Given the description of an element on the screen output the (x, y) to click on. 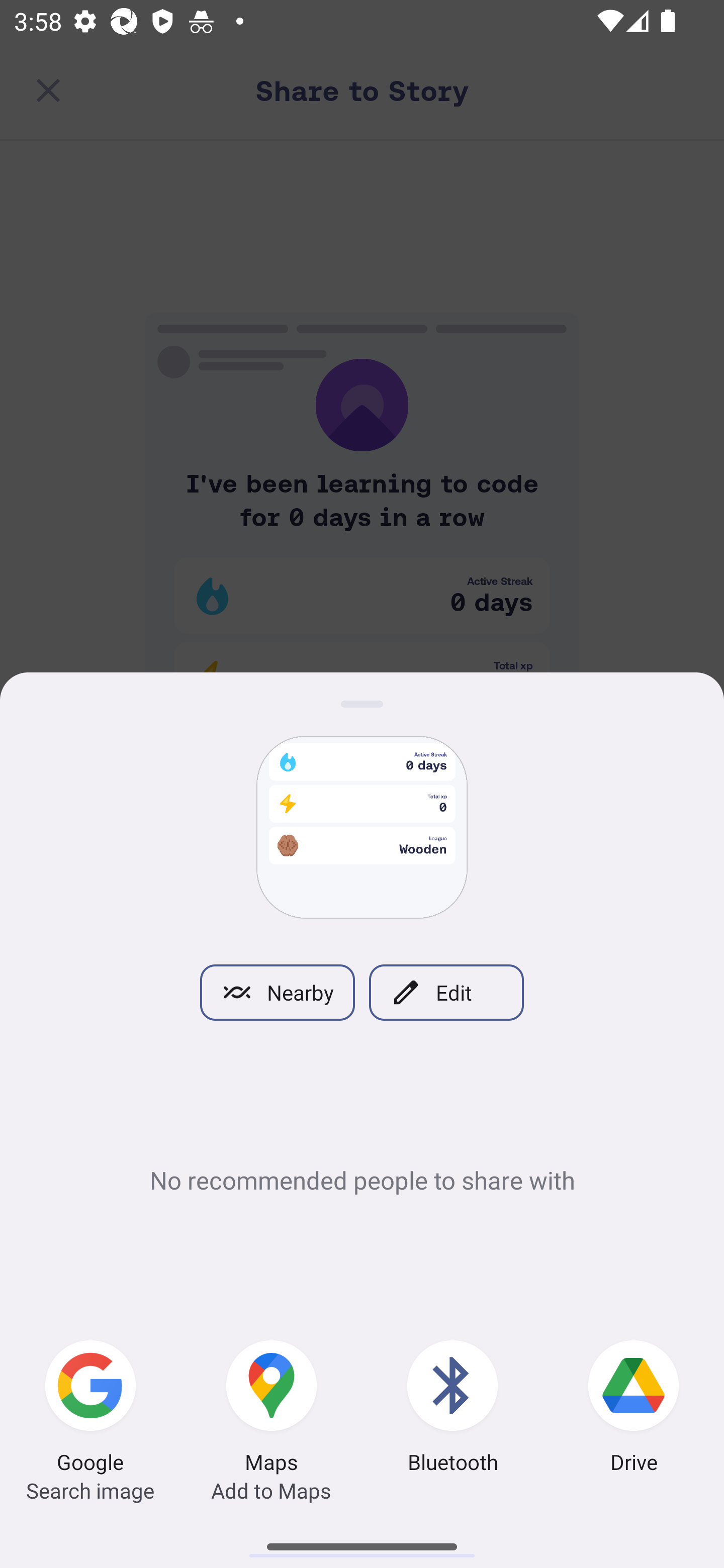
Nearby (276, 992)
Edit (446, 992)
Google Search image (90, 1409)
Maps Add to Maps (271, 1409)
Bluetooth (452, 1409)
Drive (633, 1409)
